Given the description of an element on the screen output the (x, y) to click on. 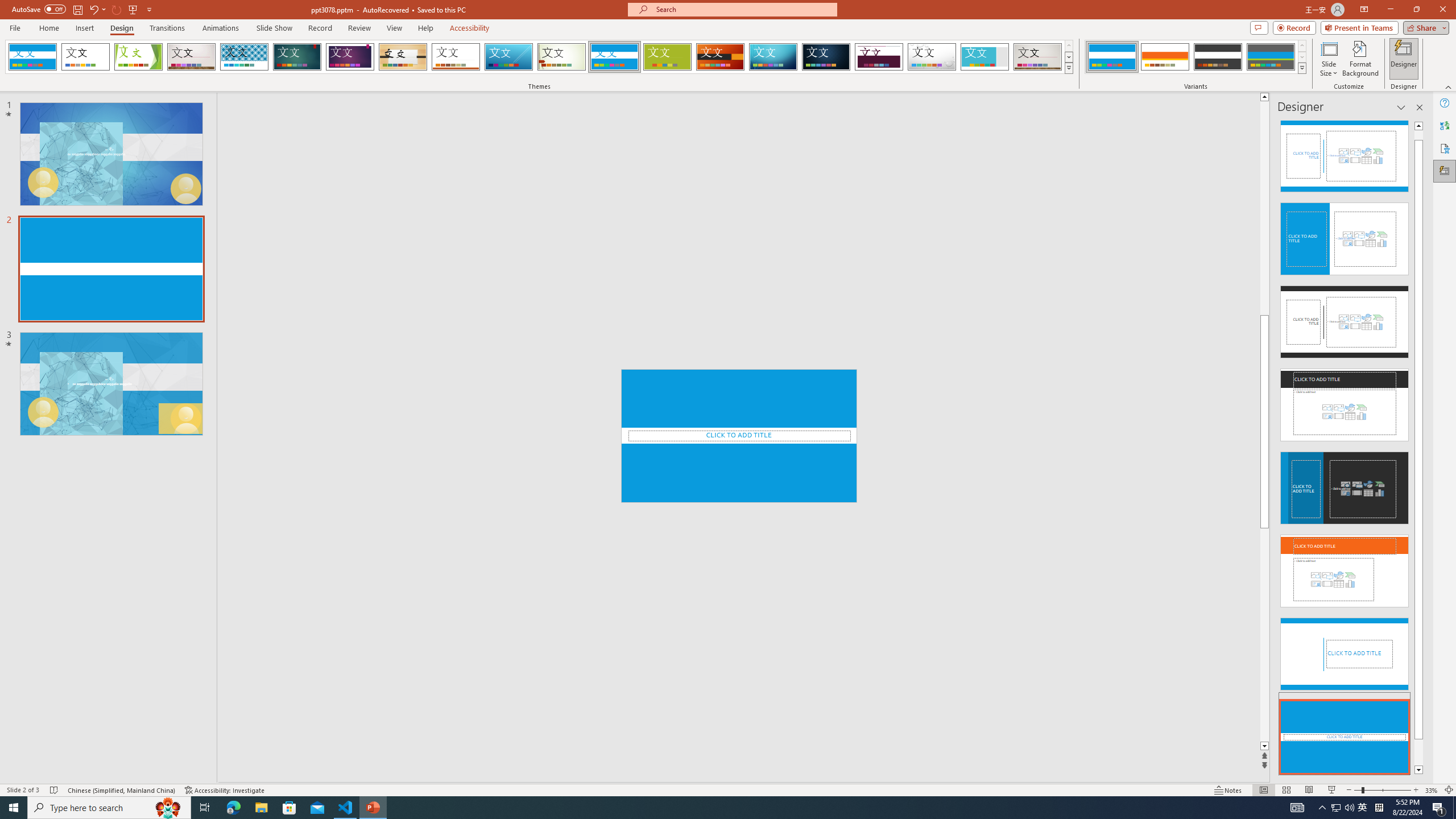
Ion Boardroom (350, 56)
Slice (508, 56)
